Given the description of an element on the screen output the (x, y) to click on. 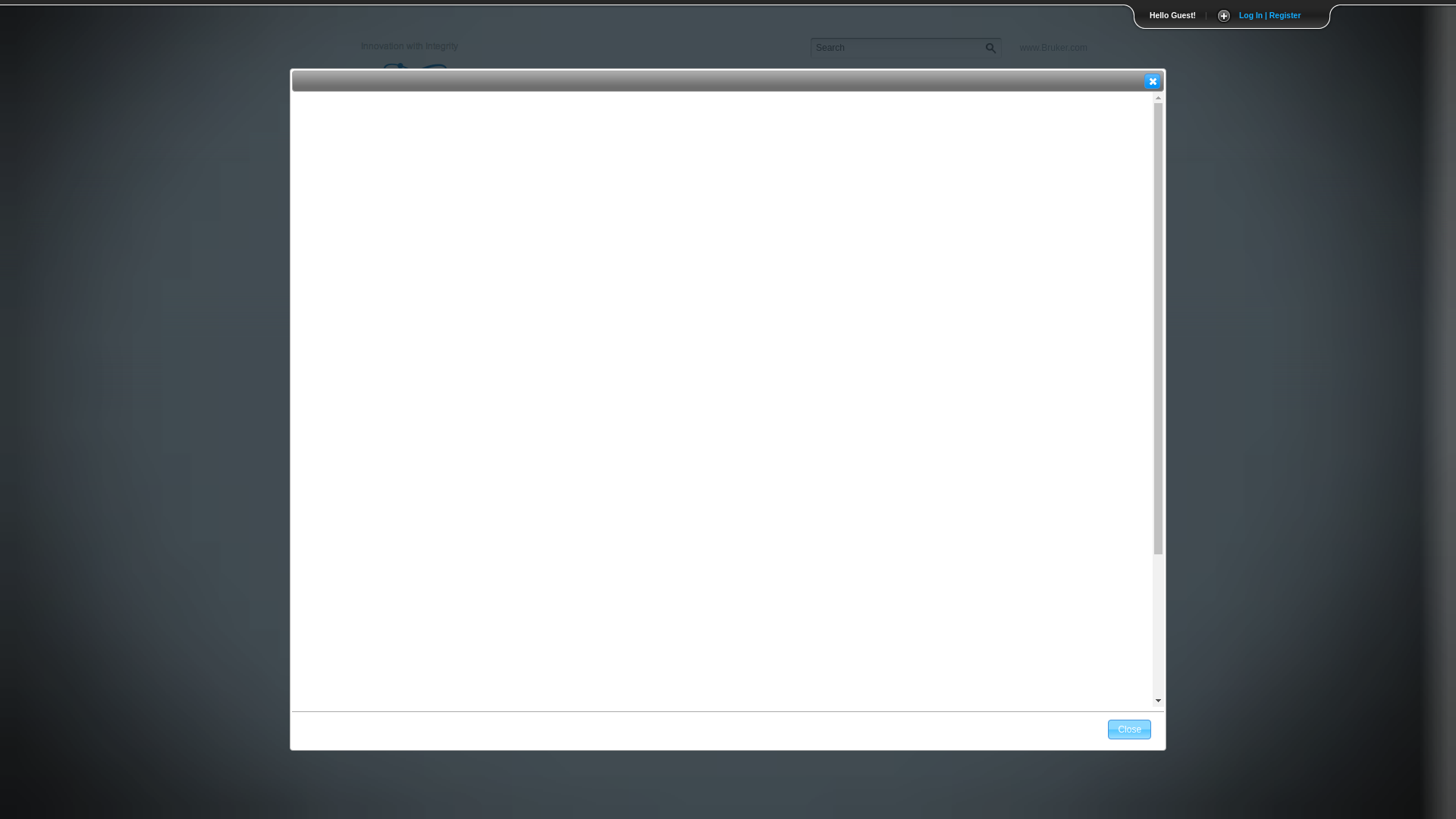
Preventive Maintenance (499, 225)
www.Bruker.com (1053, 45)
Phone Support (499, 279)
Training (840, 89)
close (1152, 80)
close (1152, 80)
Home (768, 89)
How does Bruker Service work? (499, 143)
local support office (777, 279)
Remote Support (499, 252)
Parts (911, 89)
Search (897, 47)
Product Finder (999, 89)
What does downtime really cost my operation? (499, 170)
FAQs (1088, 89)
